Given the description of an element on the screen output the (x, y) to click on. 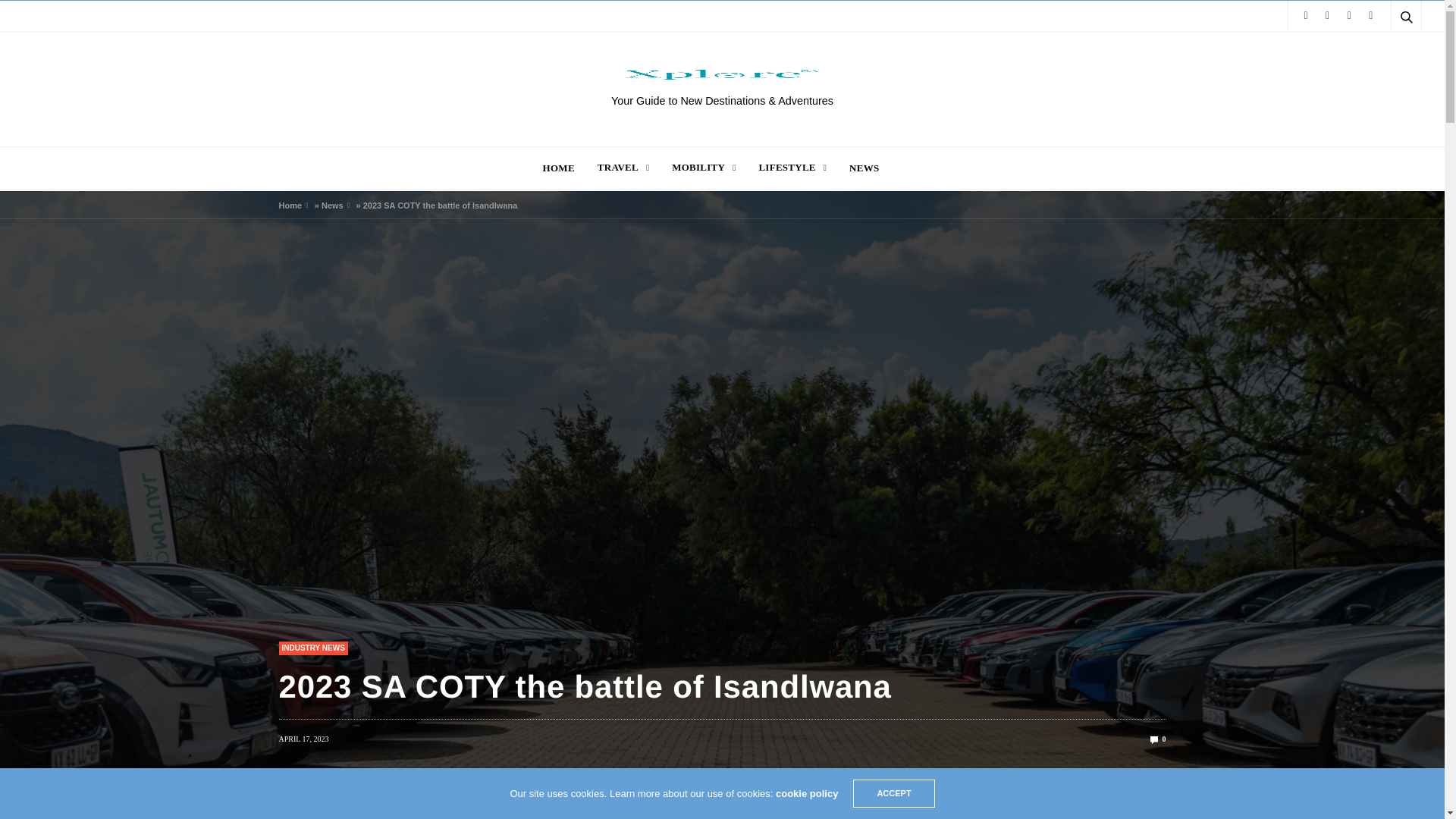
HOME (559, 167)
Home (290, 204)
0 (1158, 738)
MOBILITY (703, 167)
INDUSTRY NEWS (313, 648)
NEWS (863, 167)
Industry News (313, 648)
2023 SA COTY the battle of Isandlwana (1158, 738)
Search (1386, 53)
TRAVEL (622, 167)
News (332, 204)
LIFESTYLE (792, 167)
